Given the description of an element on the screen output the (x, y) to click on. 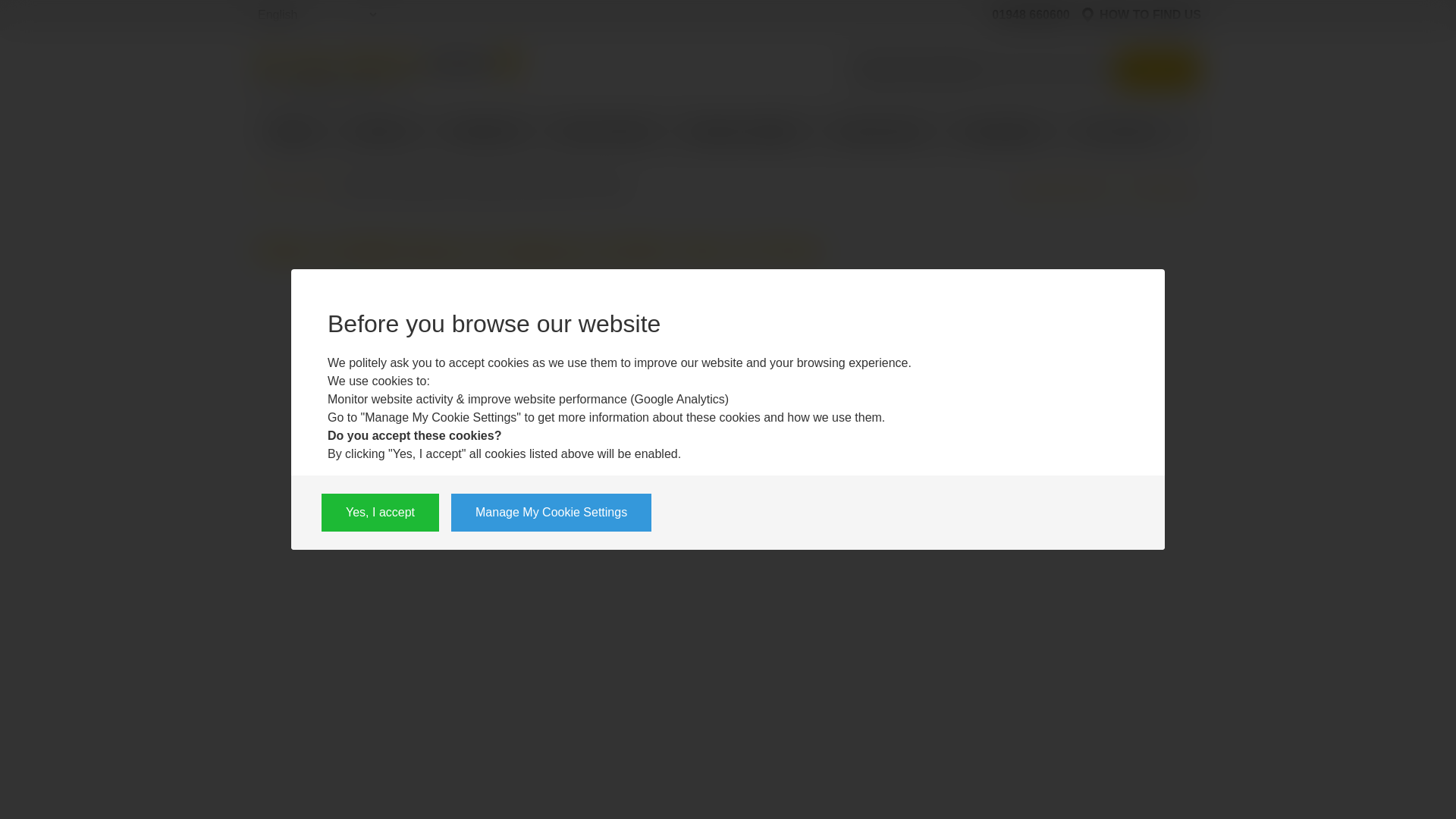
School Life (485, 133)
HOW TO FIND US (1141, 14)
01948 660600 (1023, 14)
SEARCH (1157, 69)
Yes, I accept (380, 512)
About Us (382, 133)
Home (293, 130)
Manage My Cookie Settings (550, 512)
